Given the description of an element on the screen output the (x, y) to click on. 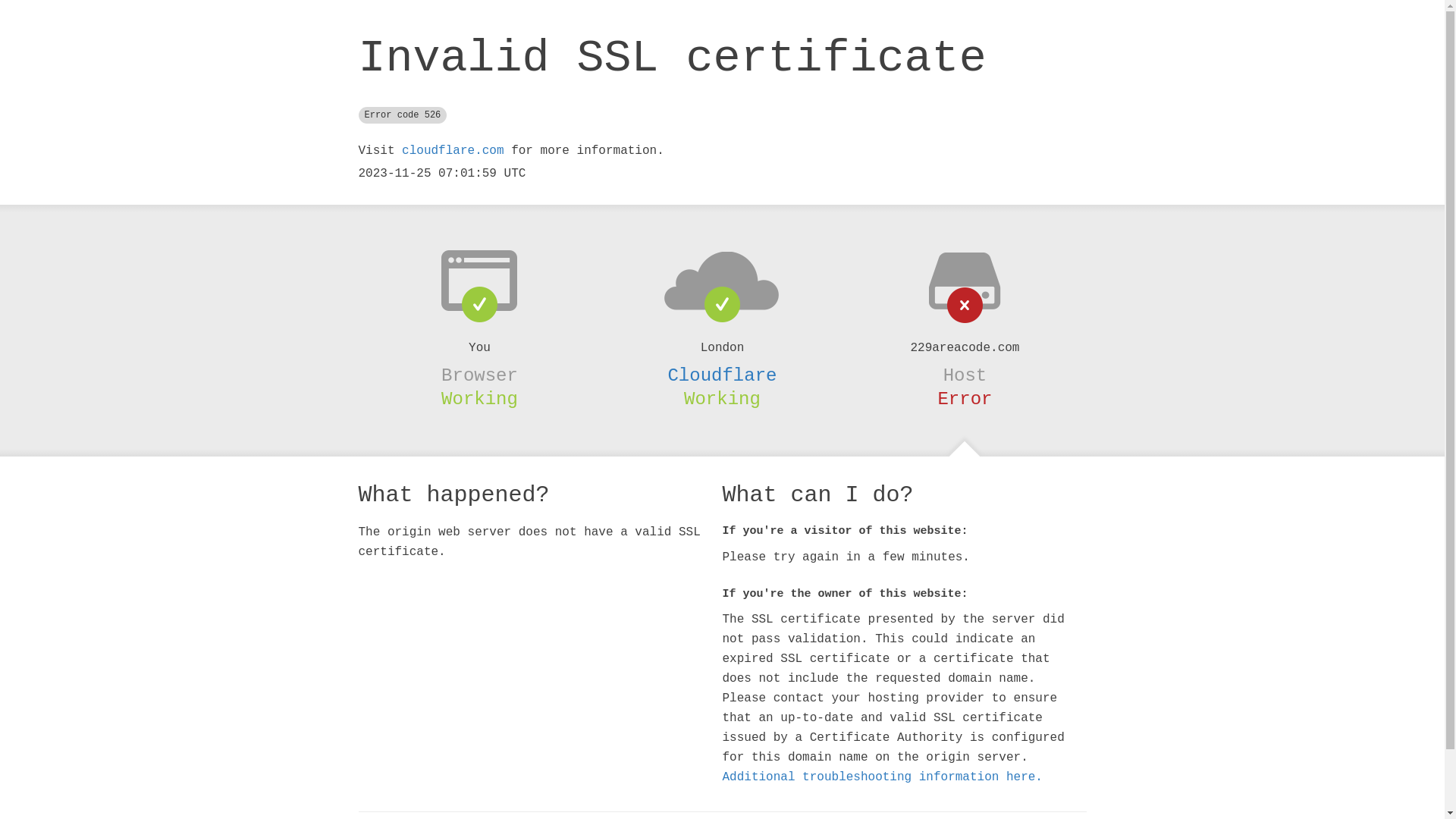
cloudflare.com Element type: text (452, 150)
Cloudflare Element type: text (721, 375)
Additional troubleshooting information here. Element type: text (881, 777)
